Given the description of an element on the screen output the (x, y) to click on. 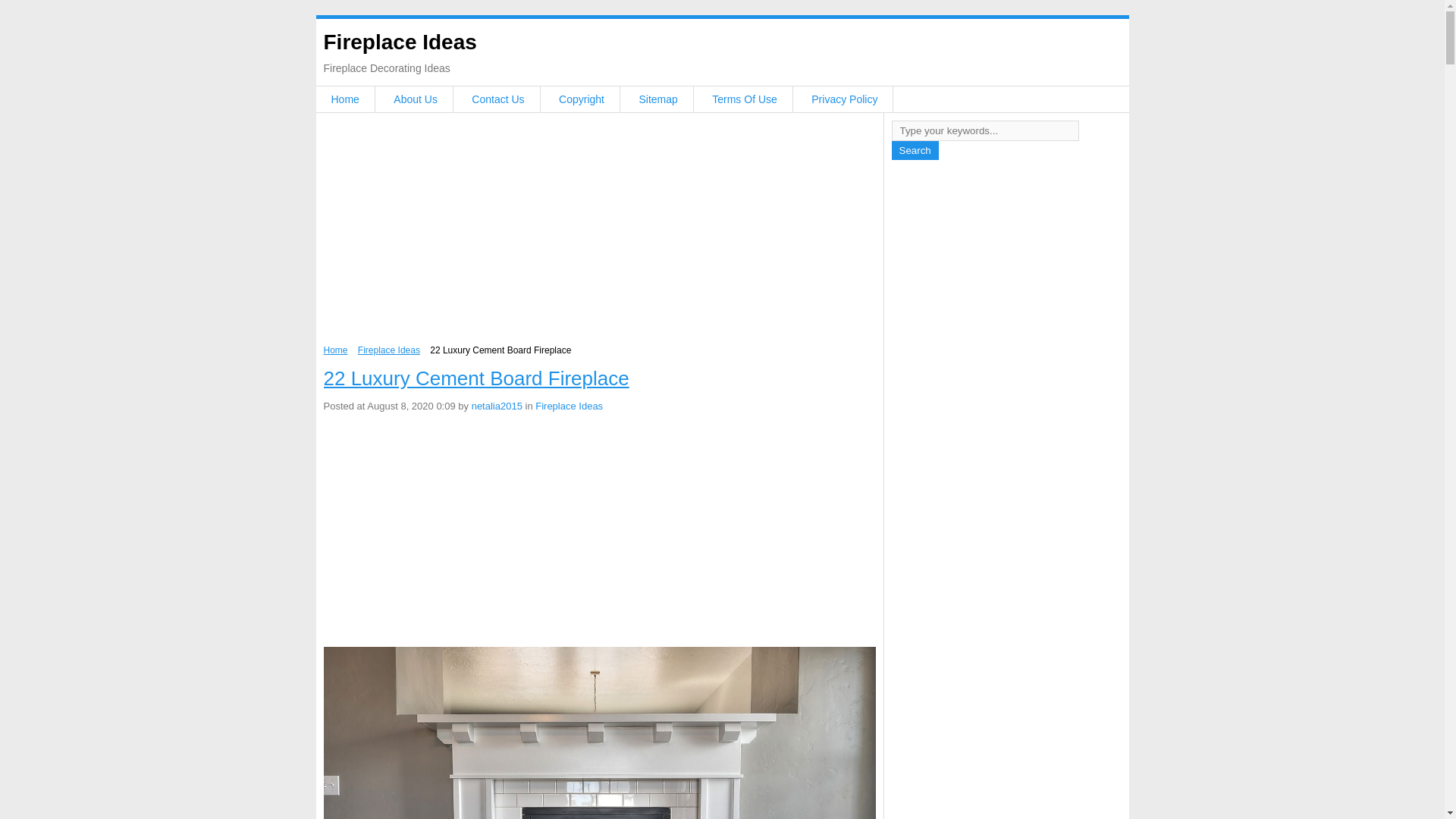
Privacy Policy (843, 99)
Advertisement (599, 232)
Home (344, 99)
Advertisement (599, 532)
Fireplace Ideas (399, 42)
Copyright (581, 99)
Sitemap (658, 99)
Terms Of Use (744, 99)
netalia2015 (496, 405)
Contact Us (497, 99)
Home (335, 349)
22 Luxury Cement Board Fireplace (475, 377)
Fireplace Ideas (389, 349)
About Us (415, 99)
Search (915, 149)
